Given the description of an element on the screen output the (x, y) to click on. 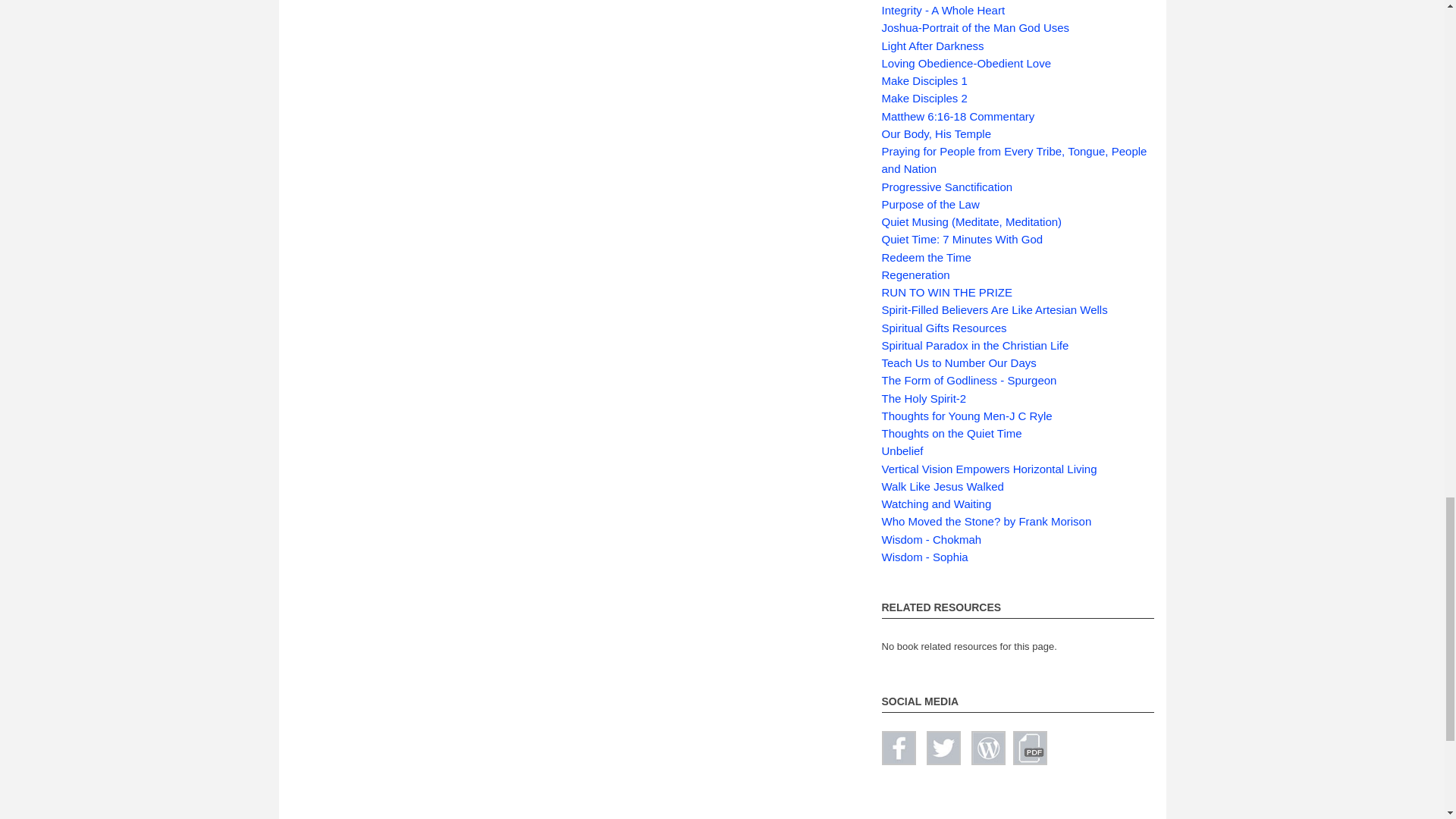
Print to PDF (1029, 747)
